Given the description of an element on the screen output the (x, y) to click on. 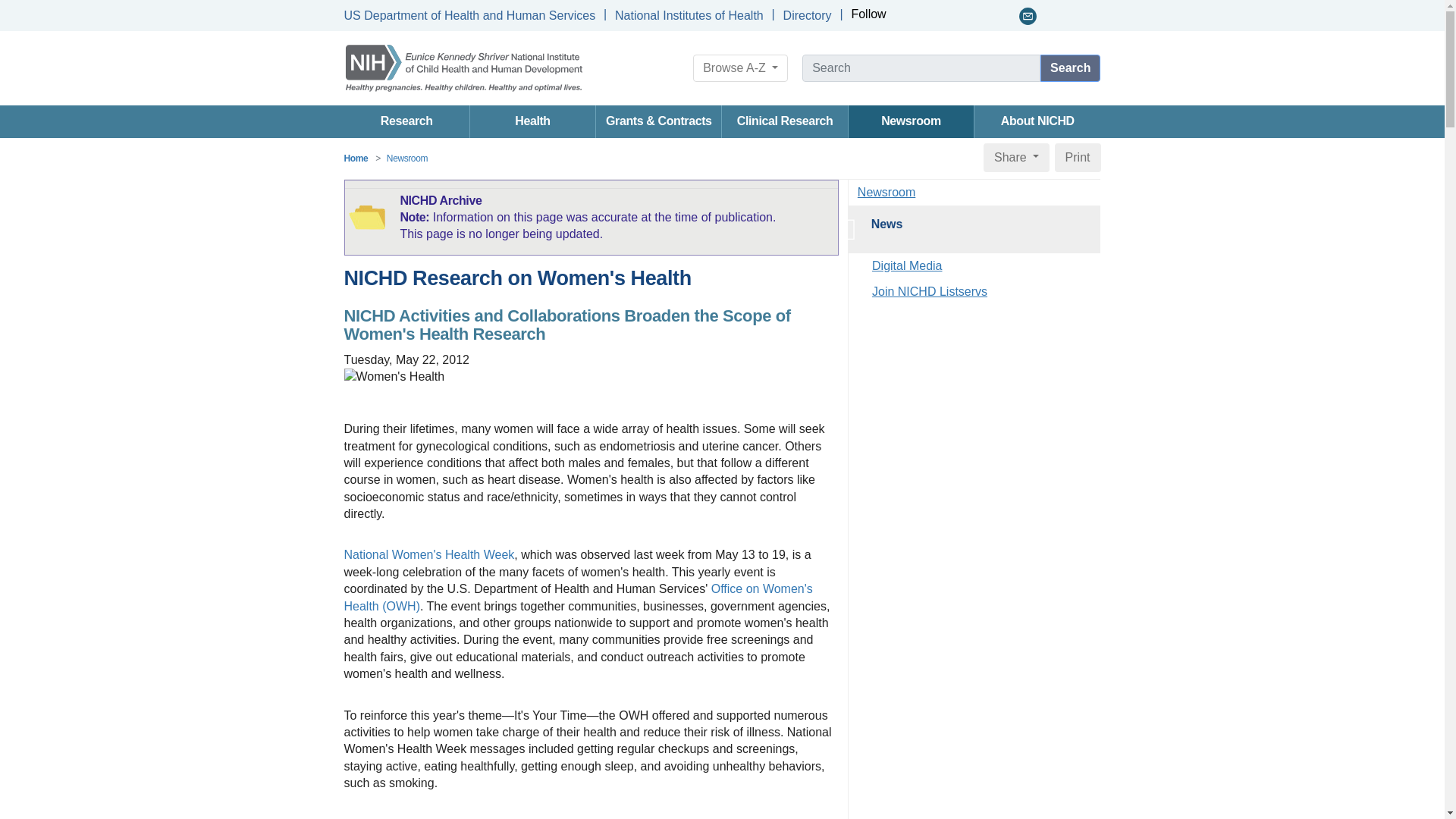
Subscribe (1027, 16)
National Institutes of Health (688, 15)
follow us on Facebook (903, 16)
instagram (1007, 16)
US Department of Health and Human Services (469, 15)
youtube (965, 16)
Browse A-Z (740, 67)
X (924, 16)
follow us on X (924, 16)
Search (1070, 67)
